Given the description of an element on the screen output the (x, y) to click on. 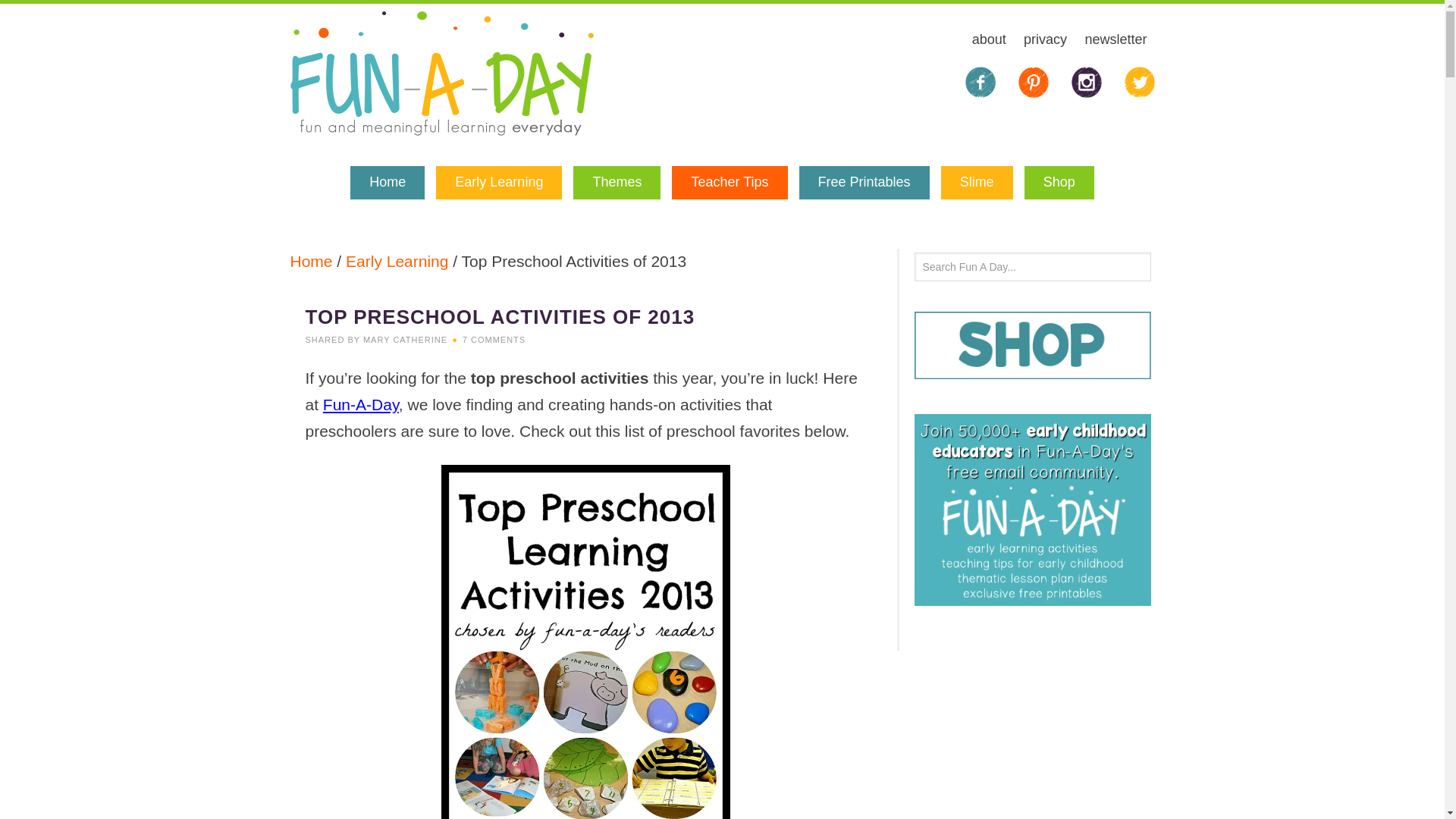
Home (310, 261)
about (988, 40)
Themes (617, 182)
Fun-A-Day (360, 404)
privacy (1045, 40)
Free Printables (864, 182)
MARY CATHERINE (404, 338)
Teacher Tips (729, 182)
newsletter (1115, 40)
Early Learning (397, 261)
